Given the description of an element on the screen output the (x, y) to click on. 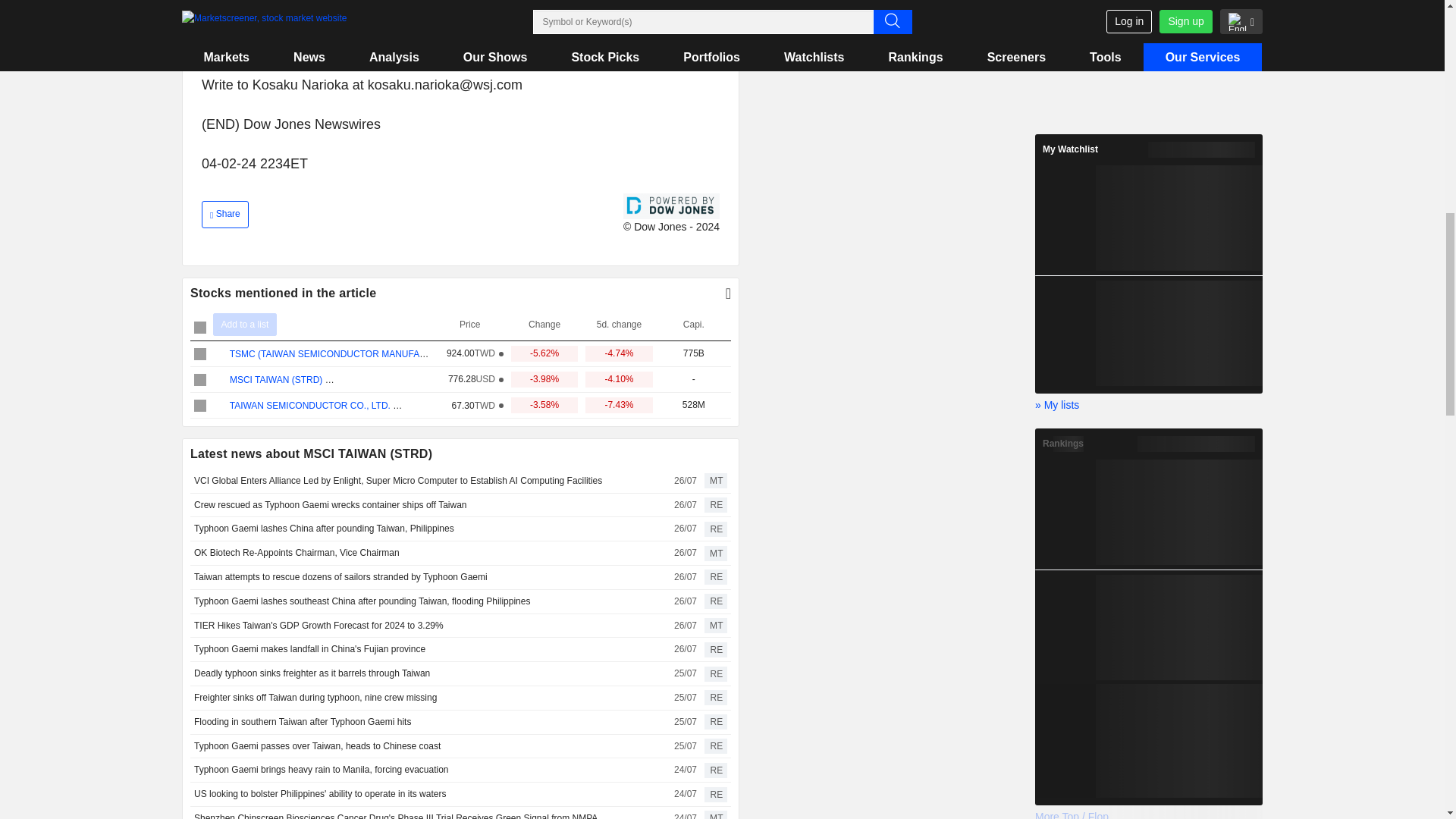
on (199, 379)
on (199, 354)
on (199, 327)
on (199, 405)
